Given the description of an element on the screen output the (x, y) to click on. 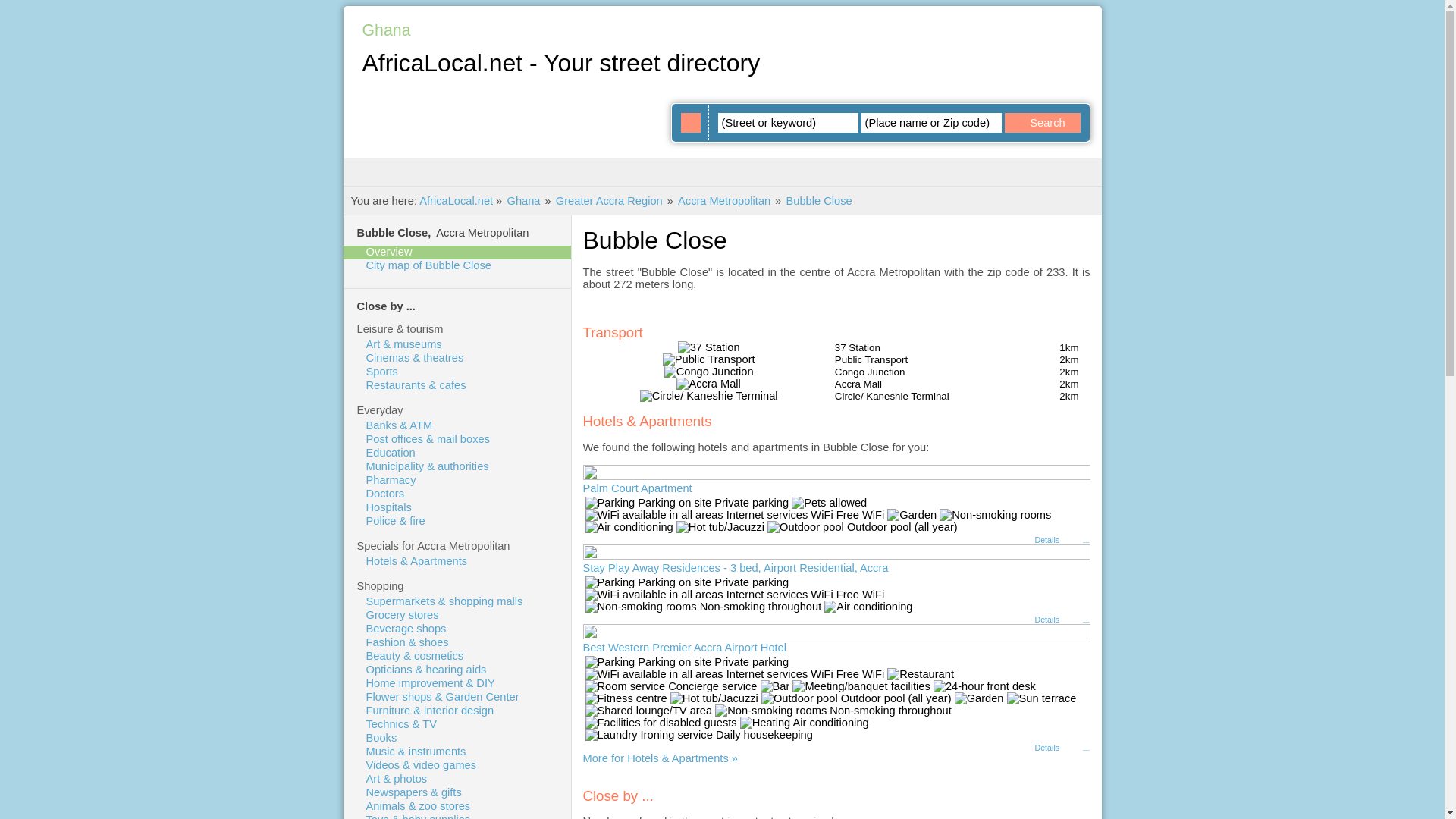
Garden (911, 514)
Non-smoking rooms (995, 514)
Air conditioning (628, 526)
Bubble Close (818, 200)
Privacy settings (951, 17)
Contact (815, 17)
Street or keyword (787, 122)
Hospitals (467, 507)
Contact (815, 17)
Sports (467, 371)
